Given the description of an element on the screen output the (x, y) to click on. 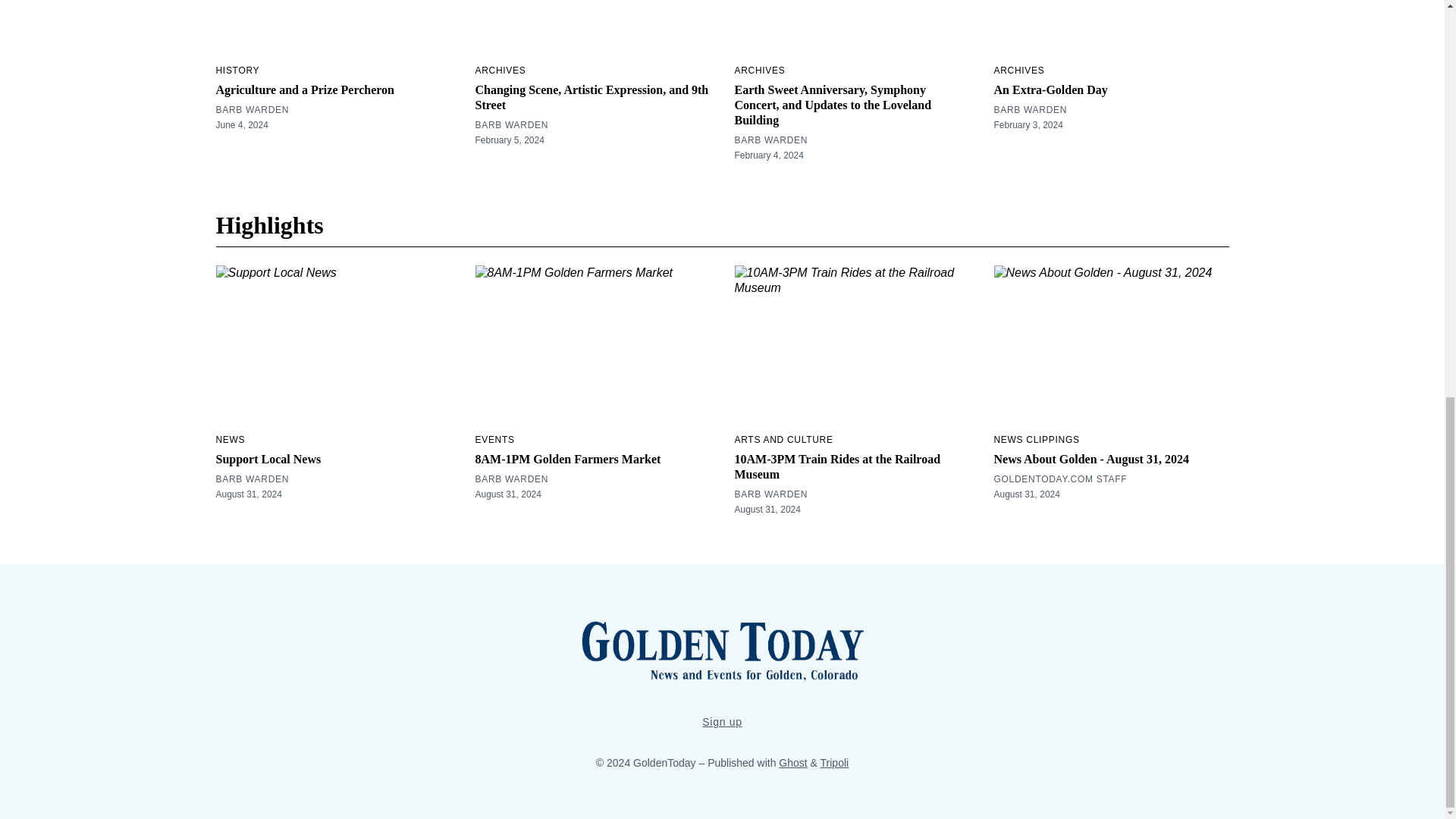
HISTORY (237, 70)
BARB WARDEN (770, 140)
ARCHIVES (499, 70)
BARB WARDEN (511, 124)
Changing Scene, Artistic Expression, and 9th Street (590, 97)
Agriculture and a Prize Percheron (304, 89)
BARB WARDEN (251, 110)
ARCHIVES (758, 70)
ARCHIVES (1017, 70)
